Given the description of an element on the screen output the (x, y) to click on. 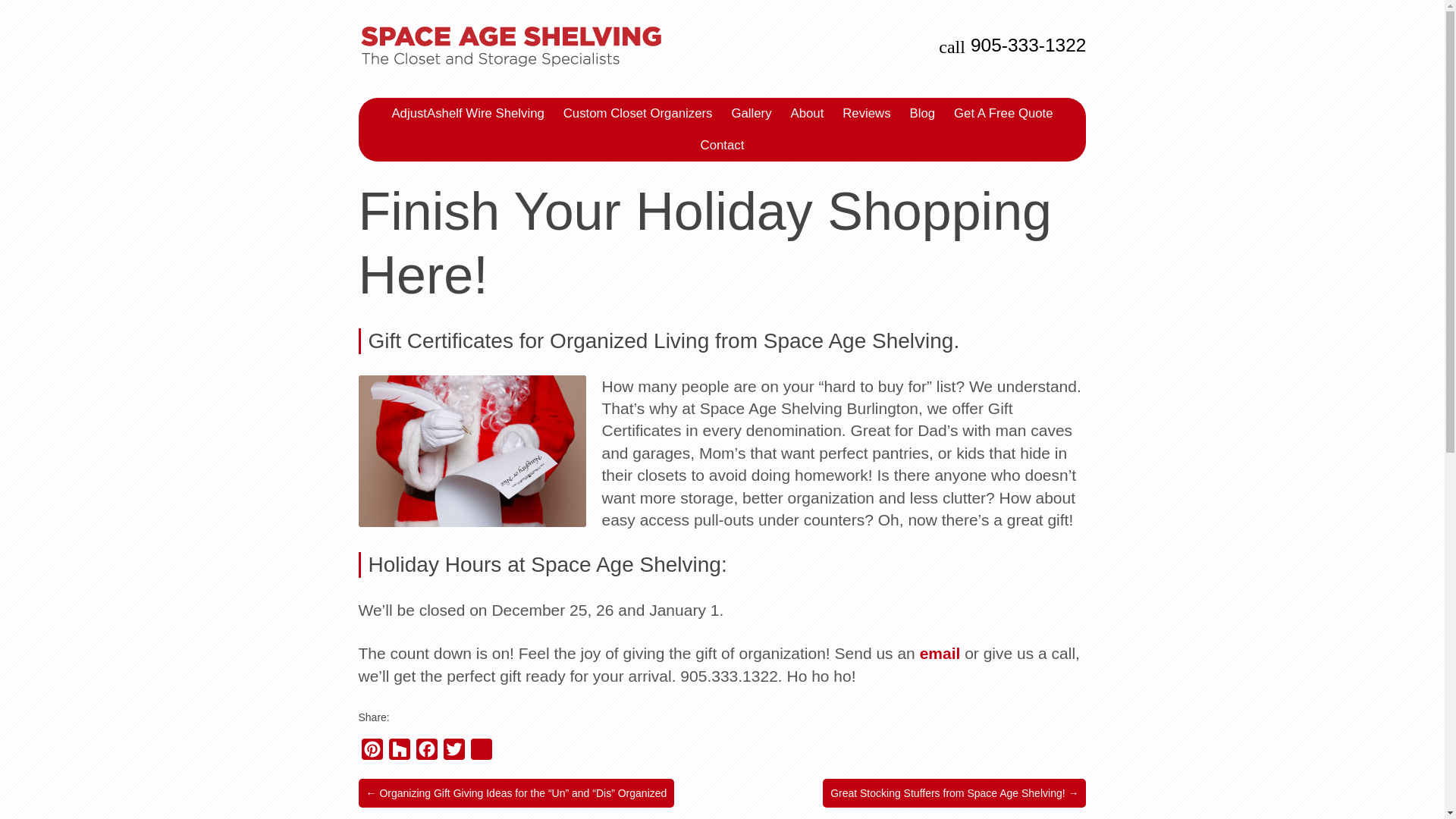
Gallery (750, 113)
Reviews (866, 113)
Pinterest (371, 752)
Contact (722, 145)
AdjustAshelf Wire Shelving (467, 113)
Contact (722, 145)
Order your gift certificates from Space Age Shelving! (940, 652)
Custom Closet Organizers (638, 113)
Gallery (750, 113)
Custom Closet Organizers (638, 113)
About (807, 113)
Houzz (398, 752)
Houzz (398, 752)
